Given the description of an element on the screen output the (x, y) to click on. 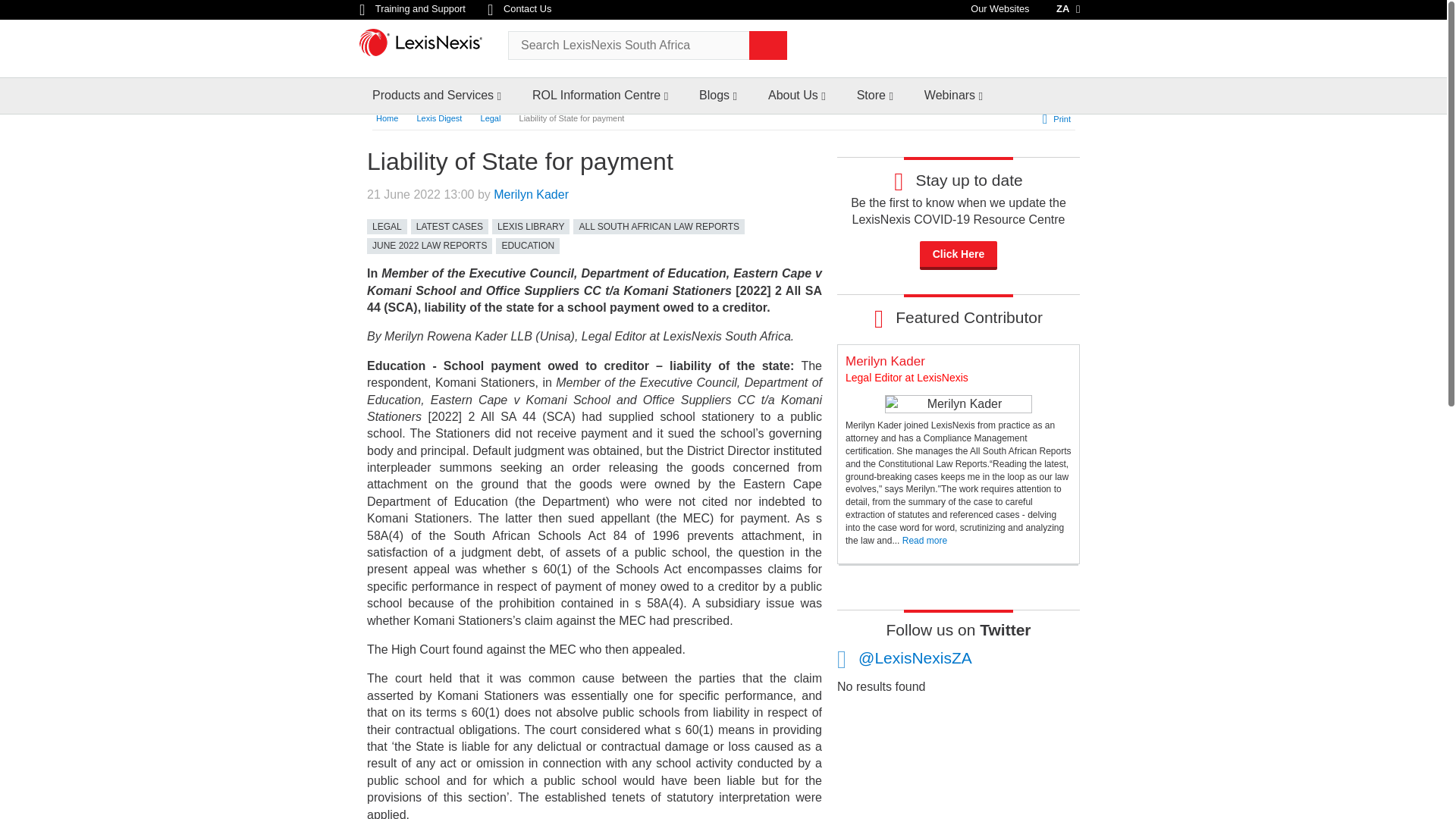
Search (768, 45)
Training and Support (413, 8)
Merilyn Kader (957, 403)
Contact Us (519, 8)
Lexis Nexis (427, 46)
Search (768, 45)
